Given the description of an element on the screen output the (x, y) to click on. 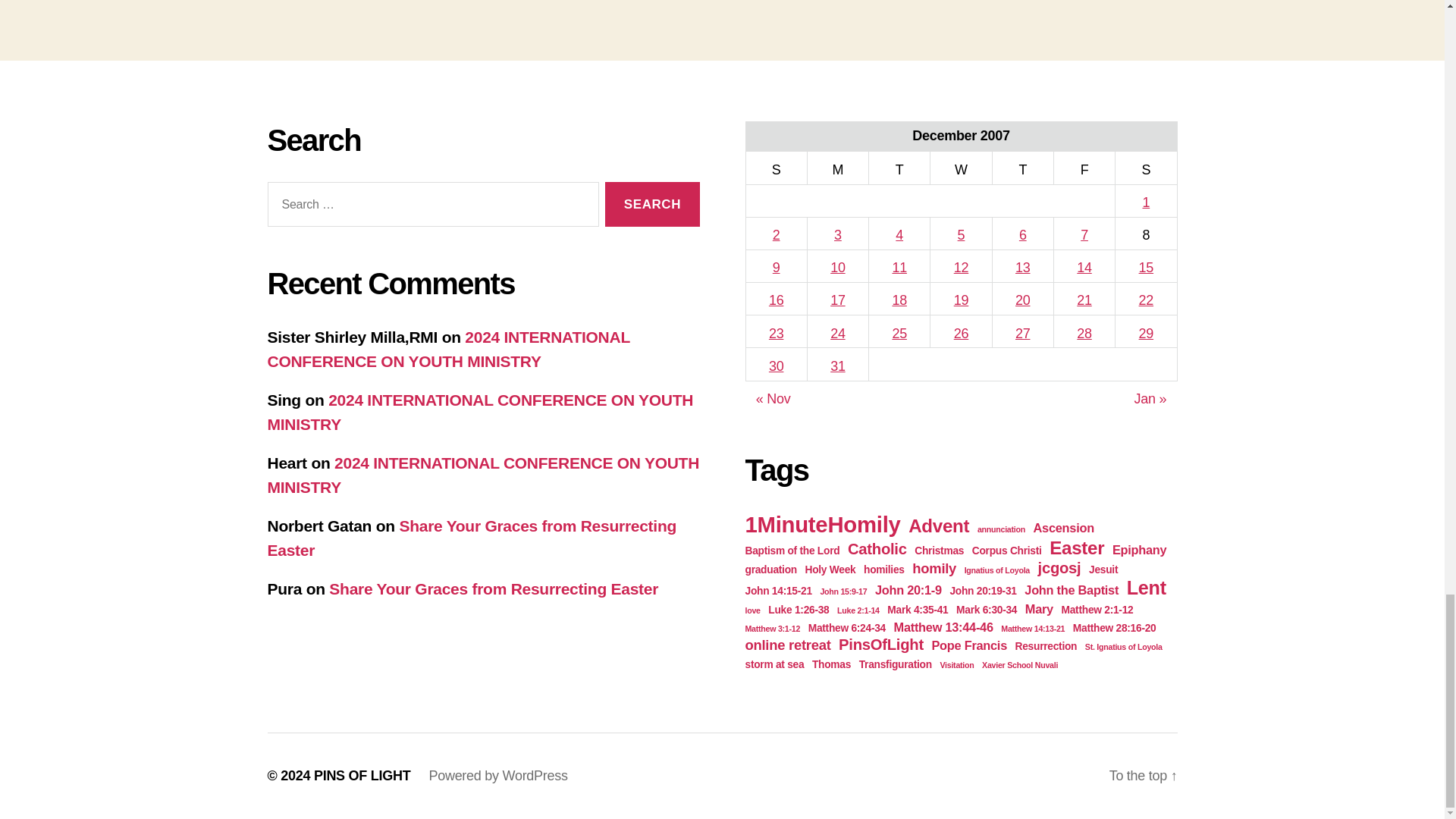
Saturday (1145, 167)
2024 INTERNATIONAL CONFERENCE ON YOUTH MINISTRY (447, 349)
Friday (1083, 167)
Search (651, 203)
Tuesday (899, 167)
Search (651, 203)
Sunday (775, 167)
2024 INTERNATIONAL CONFERENCE ON YOUTH MINISTRY (482, 475)
Thursday (1021, 167)
Wednesday (960, 167)
Search (651, 203)
Share Your Graces from Resurrecting Easter (471, 537)
Monday (836, 167)
2024 INTERNATIONAL CONFERENCE ON YOUTH MINISTRY (479, 412)
